Given the description of an element on the screen output the (x, y) to click on. 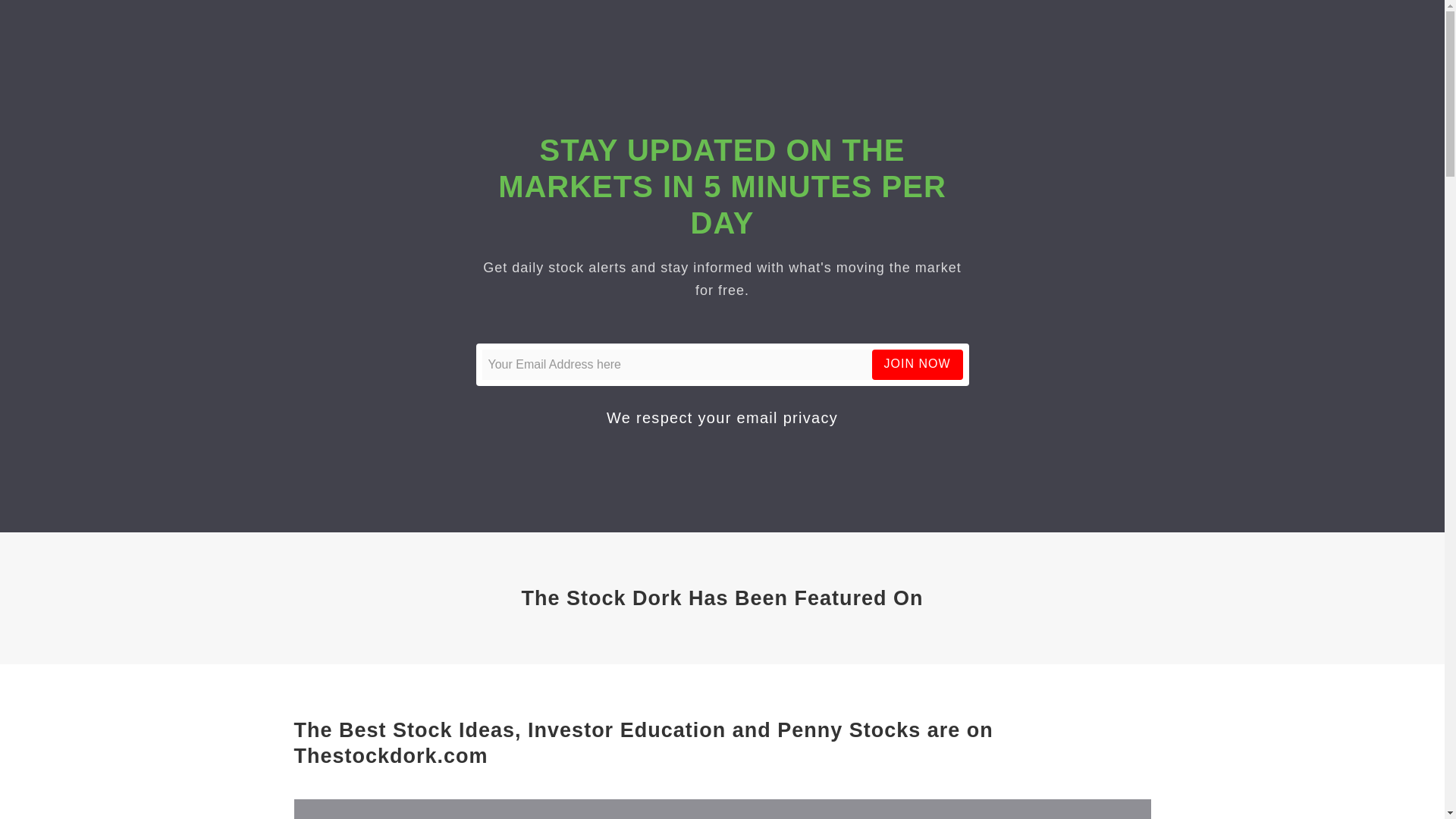
Join Now (917, 363)
Join Now (917, 363)
Privacy Policy (787, 417)
email privacy (787, 417)
